Given the description of an element on the screen output the (x, y) to click on. 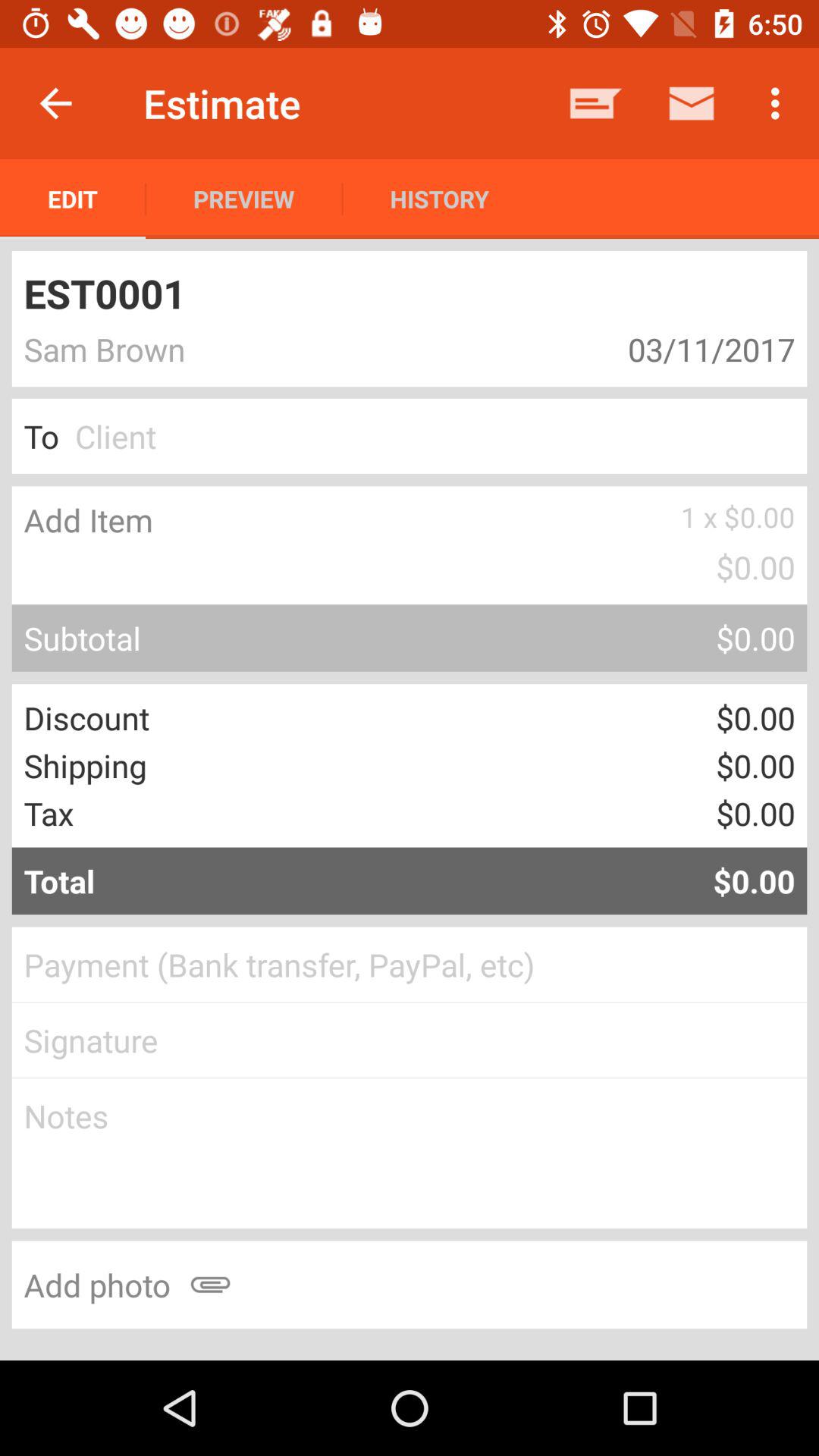
press the app next to edit (243, 198)
